Given the description of an element on the screen output the (x, y) to click on. 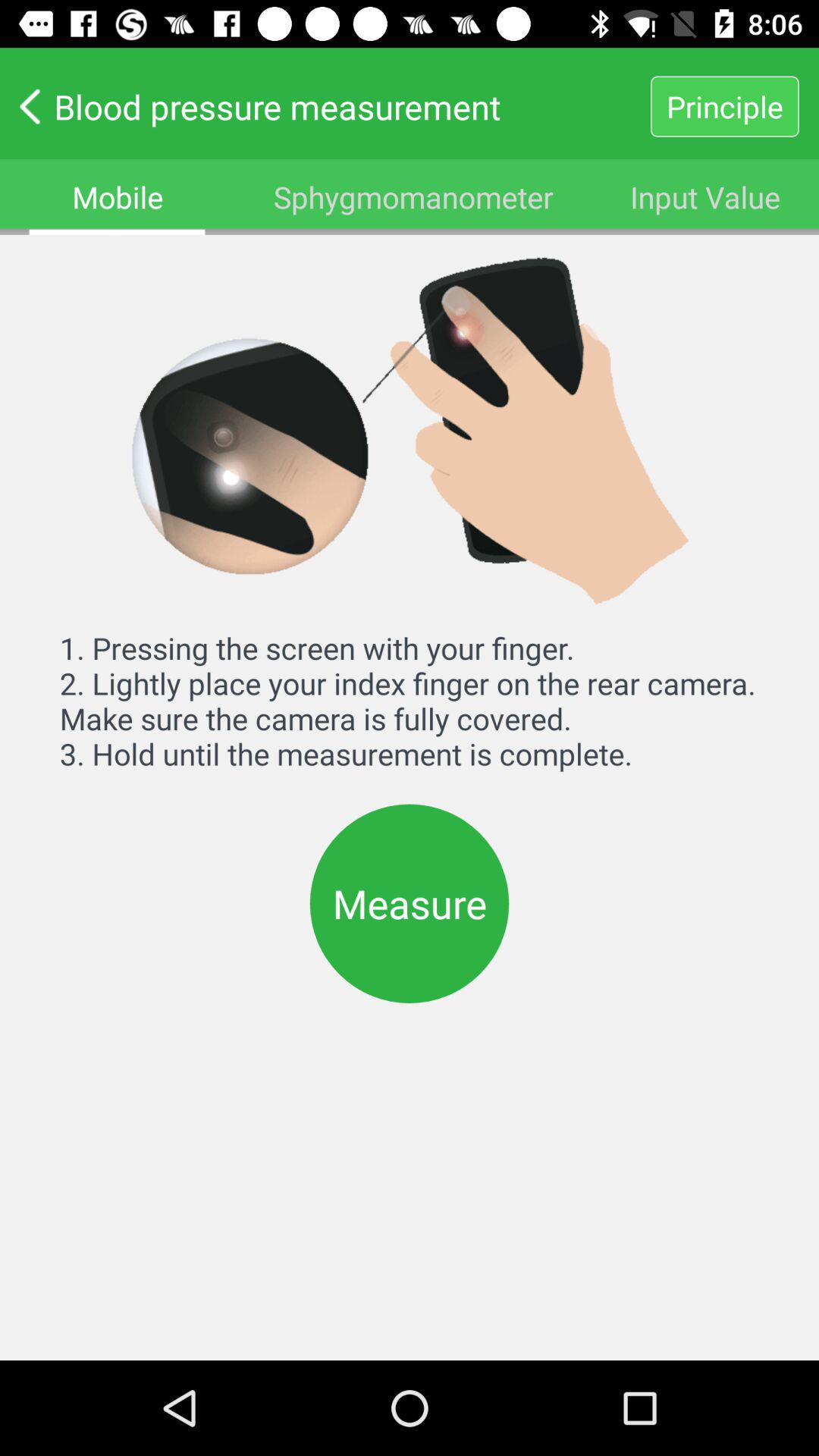
click the icon to the left of principle icon (325, 106)
